Given the description of an element on the screen output the (x, y) to click on. 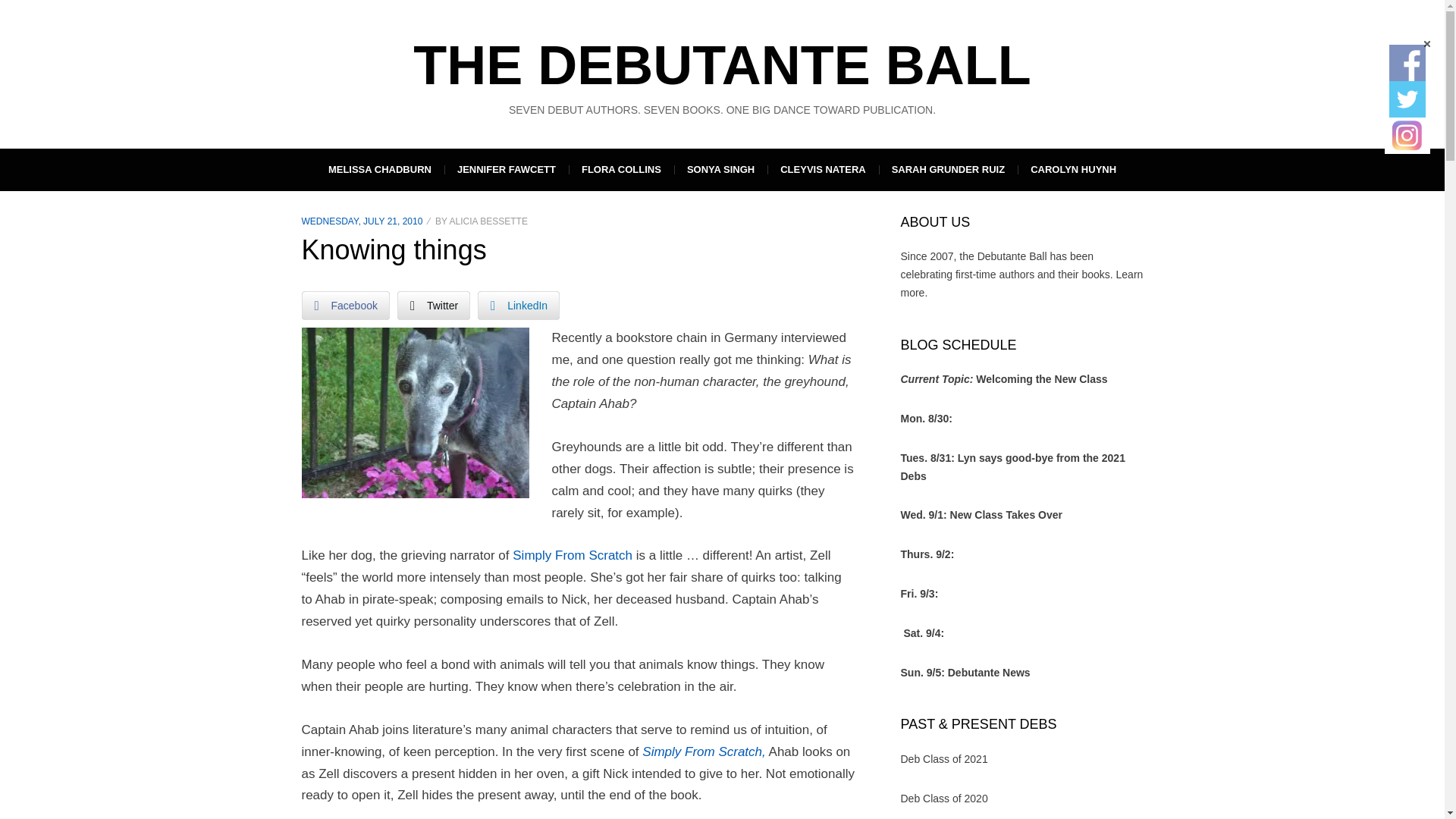
SARAH GRUNDER RUIZ (948, 169)
Facebook (345, 305)
Stella, who inspired Captain Ahab in Simply From Scratch (415, 412)
Simply From Scratch (571, 554)
JENNIFER FAWCETT (506, 169)
LinkedIn (518, 305)
FLORA COLLINS (621, 169)
Simply From Scratch, (703, 751)
ALICIA BESSETTE (488, 221)
THE DEBUTANTE BALL (721, 65)
